Given the description of an element on the screen output the (x, y) to click on. 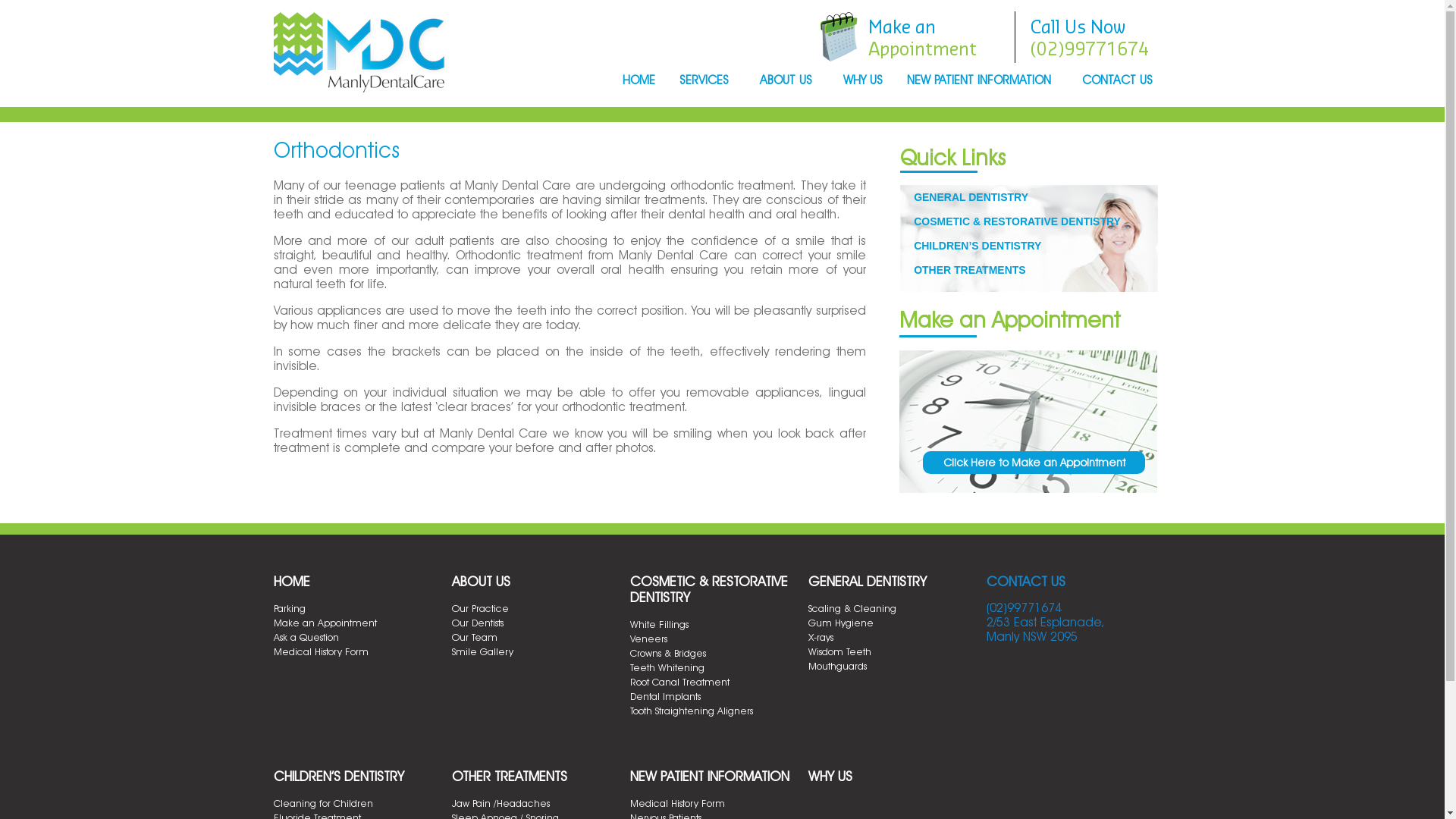
GENERAL DENTISTRY Element type: text (867, 581)
Ask a Question Element type: text (305, 636)
COSMETIC & RESTORATIVE DENTISTRY Element type: text (708, 589)
SERVICES Element type: text (707, 80)
WHY US Element type: text (862, 80)
White Fillings Element type: text (658, 624)
COSMETIC & RESTORATIVE DENTISTRY Element type: text (1016, 221)
NEW PATIENT INFORMATION Element type: text (708, 776)
Medical History Form Element type: text (676, 803)
Dental Implants Element type: text (664, 696)
Our Dentists Element type: text (477, 622)
Crowns & Bridges Element type: text (667, 652)
Smile Gallery Element type: text (482, 651)
OTHER TREATMENTS Element type: text (509, 776)
X-rays Element type: text (820, 636)
Gum Hygiene Element type: text (840, 622)
Our Team Element type: text (474, 636)
ABOUT US Element type: text (480, 581)
Medical History Form Element type: text (320, 651)
Click Here to Make an Appointment Element type: text (1034, 462)
CONTACT US Element type: text (1119, 80)
Scaling & Cleaning Element type: text (852, 608)
CONTACT US Element type: text (1024, 581)
Our Practice Element type: text (479, 608)
Veneers Element type: text (647, 638)
Wisdom Teeth Element type: text (839, 651)
Make an
Appointment Element type: text (921, 36)
HOME Element type: text (291, 581)
Teeth Whitening Element type: text (666, 667)
WHY US Element type: text (830, 776)
Root Canal Treatment Element type: text (678, 681)
Parking Element type: text (288, 608)
Mouthguards Element type: text (837, 665)
ABOUT US Element type: text (789, 80)
Jaw Pain /Headaches Element type: text (500, 803)
Tooth Straightening Aligners Element type: text (690, 710)
NEW PATIENT INFORMATION Element type: text (982, 80)
Make an Appointment Element type: text (324, 622)
GENERAL DENTISTRY Element type: text (970, 197)
OTHER TREATMENTS Element type: text (969, 269)
HOME Element type: text (637, 80)
Cleaning for Children Element type: text (322, 803)
